Given the description of an element on the screen output the (x, y) to click on. 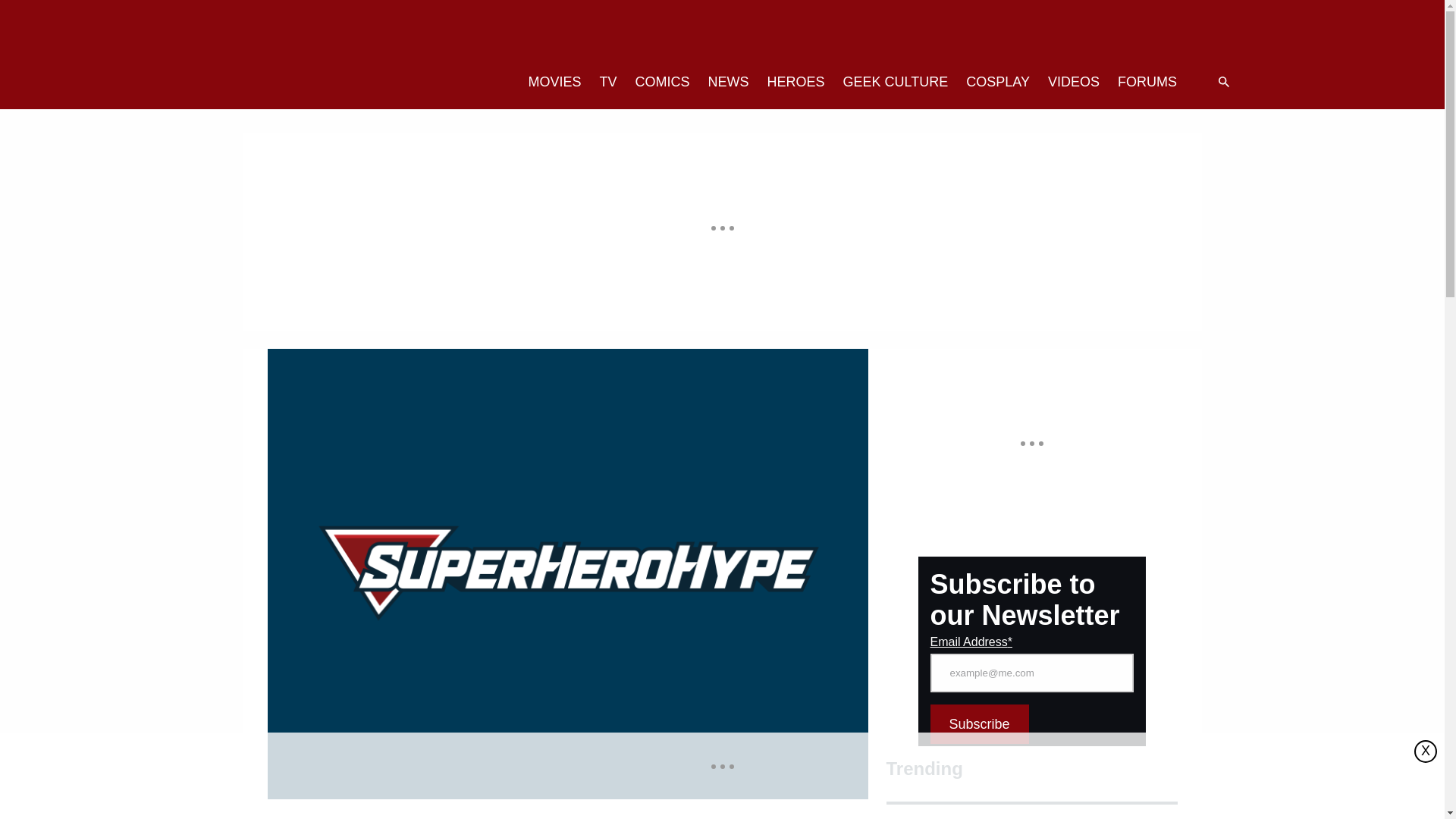
Instagram (1161, 33)
FORUMS (1147, 81)
COSPLAY (997, 81)
Facebook (1130, 33)
NEWS (728, 81)
HEROES (796, 81)
Subscribe (978, 723)
TV (608, 81)
COMICS (662, 81)
VIDEOS (1073, 81)
GEEK CULTURE (896, 81)
MOVIES (553, 81)
Twitter (1101, 33)
